Given the description of an element on the screen output the (x, y) to click on. 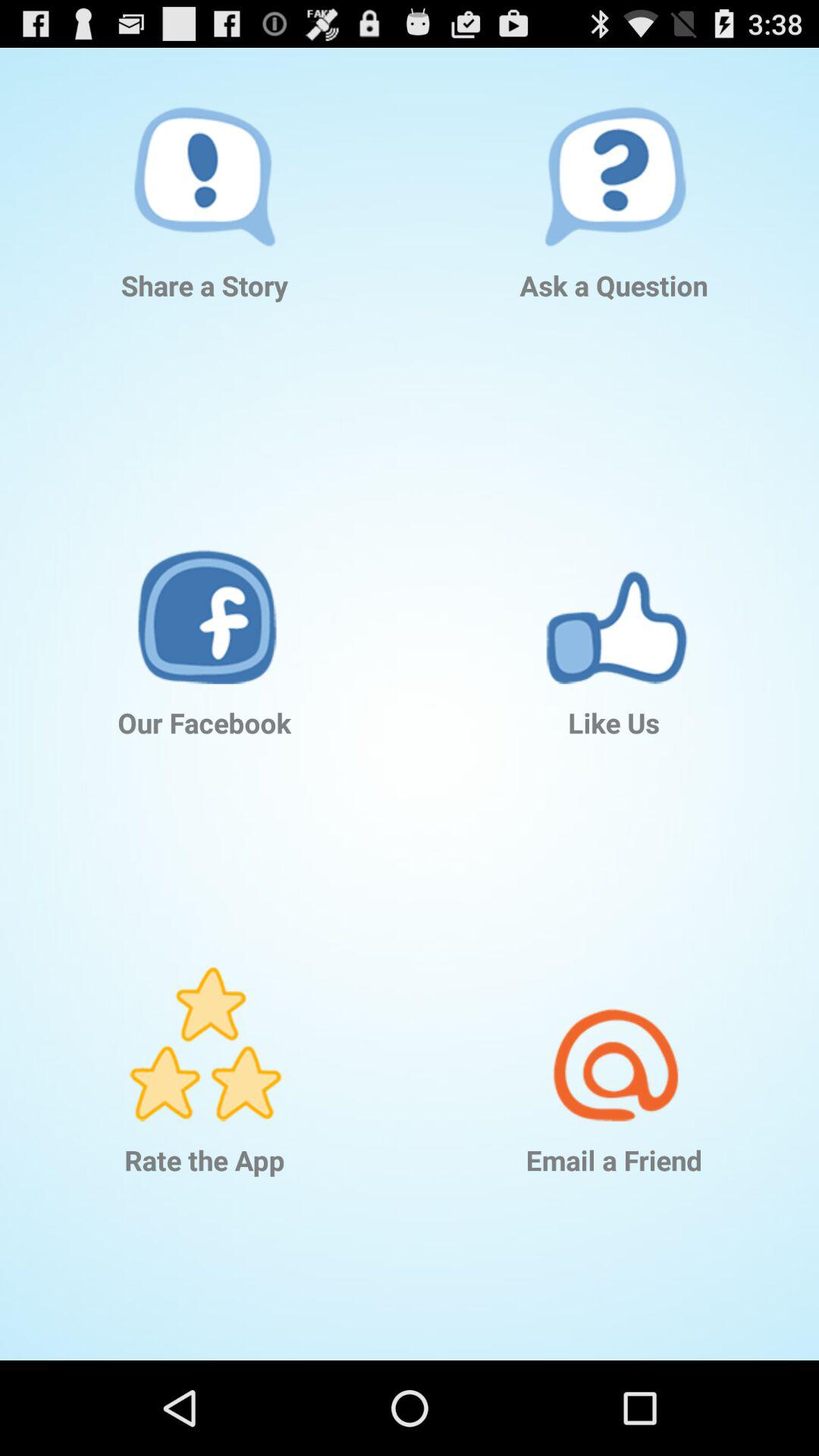
select the first option from the right top (614, 147)
click on the email icon (614, 1022)
click on rate the app ion (204, 1022)
click on second row of first icon (204, 584)
